Given the description of an element on the screen output the (x, y) to click on. 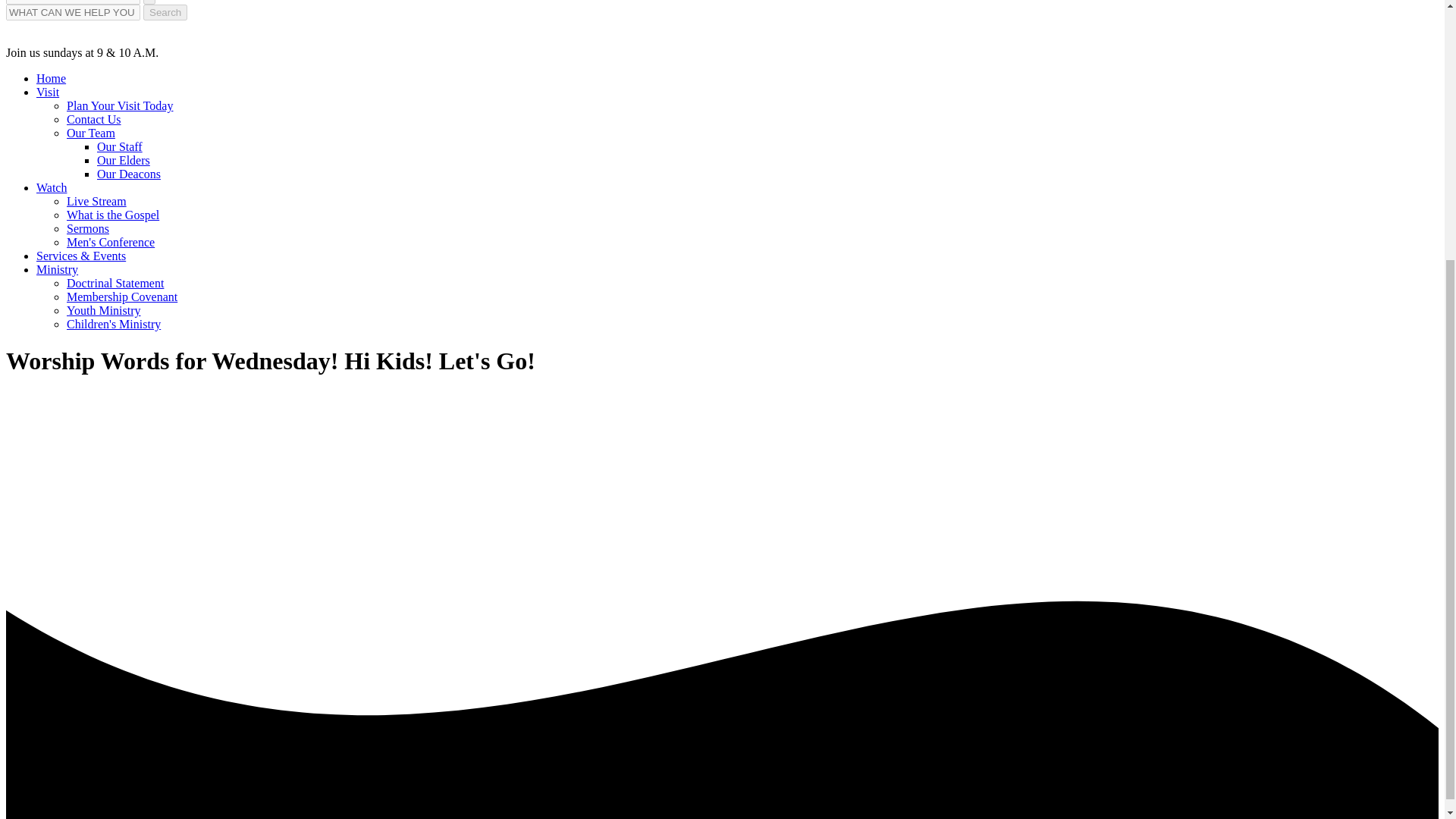
Plan Your Visit Today (119, 105)
Watch (51, 187)
Our Deacons (128, 173)
Doctrinal Statement (114, 282)
Live Stream (96, 201)
Our Team (90, 132)
Our Staff (119, 146)
Contact Us (93, 119)
Ministry (57, 269)
What is the Gospel (112, 214)
Men's Conference (110, 241)
Search (164, 12)
Visit (47, 91)
Sermons (87, 228)
Home (50, 78)
